Given the description of an element on the screen output the (x, y) to click on. 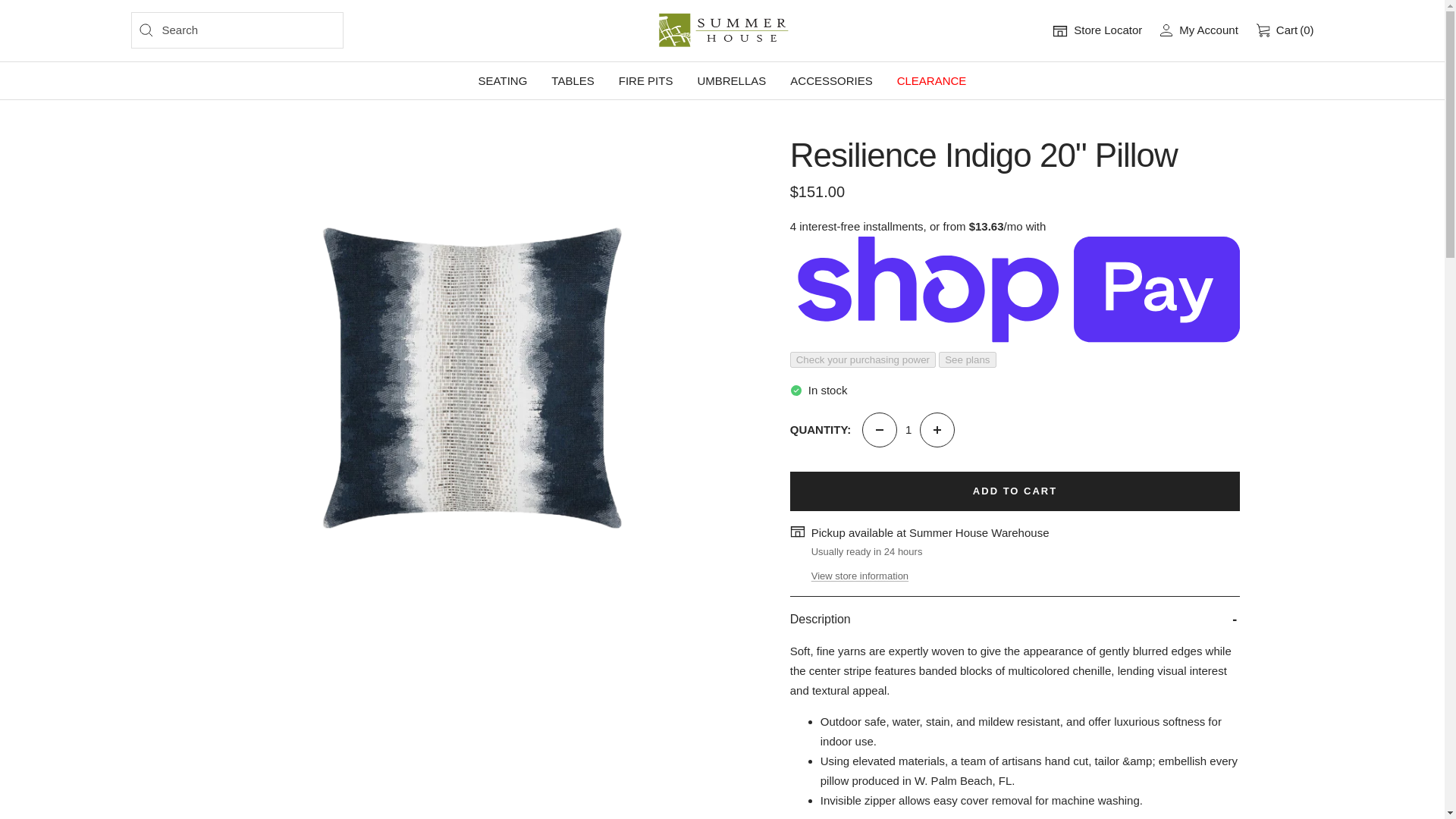
View store information (859, 575)
My Account (1199, 30)
UMBRELLAS (731, 80)
CLEARANCE (931, 80)
Increase quantity (937, 429)
FIRE PITS (645, 80)
ACCESSORIES (831, 80)
Decrease quantity (878, 429)
SEATING (503, 80)
Store Locator (1096, 30)
Summer House Patio (721, 30)
TABLES (572, 80)
ADD TO CART (1015, 491)
